Given the description of an element on the screen output the (x, y) to click on. 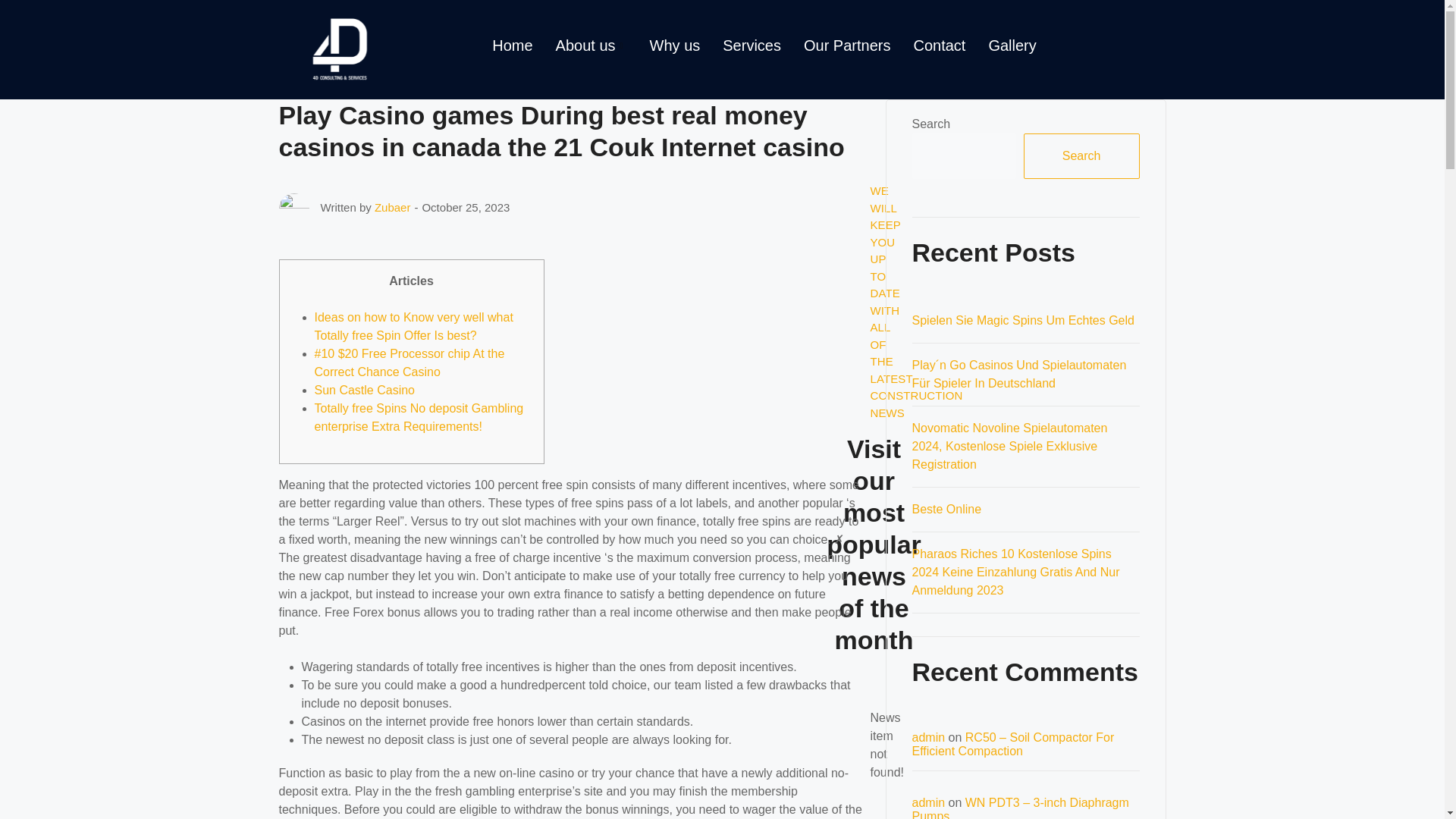
Services (751, 45)
admin (927, 802)
Zubaer (392, 206)
Why us (675, 45)
View all posts by Zubaer (392, 206)
Beste Online (946, 508)
